Given the description of an element on the screen output the (x, y) to click on. 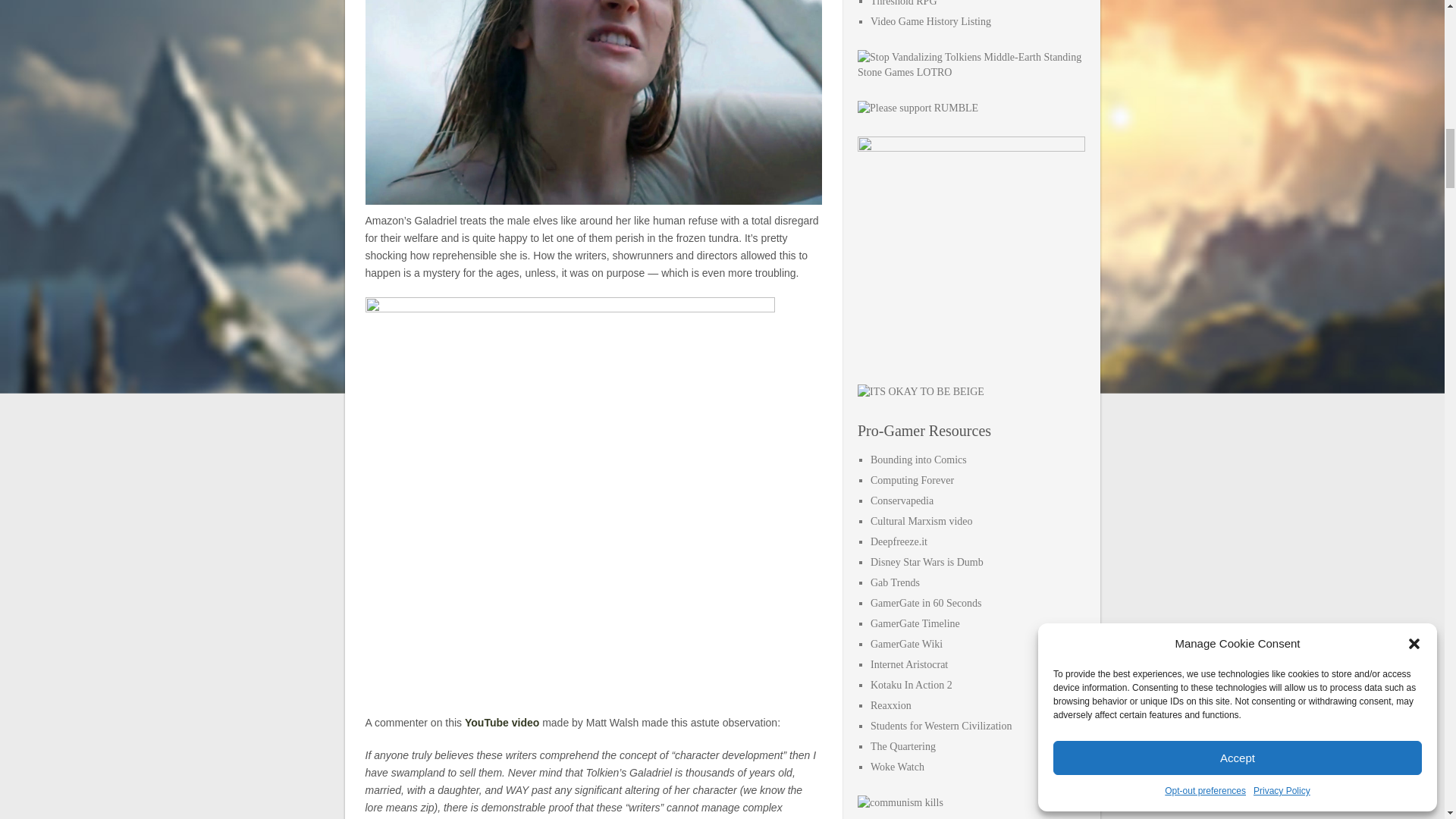
YouTube video (501, 722)
